Given the description of an element on the screen output the (x, y) to click on. 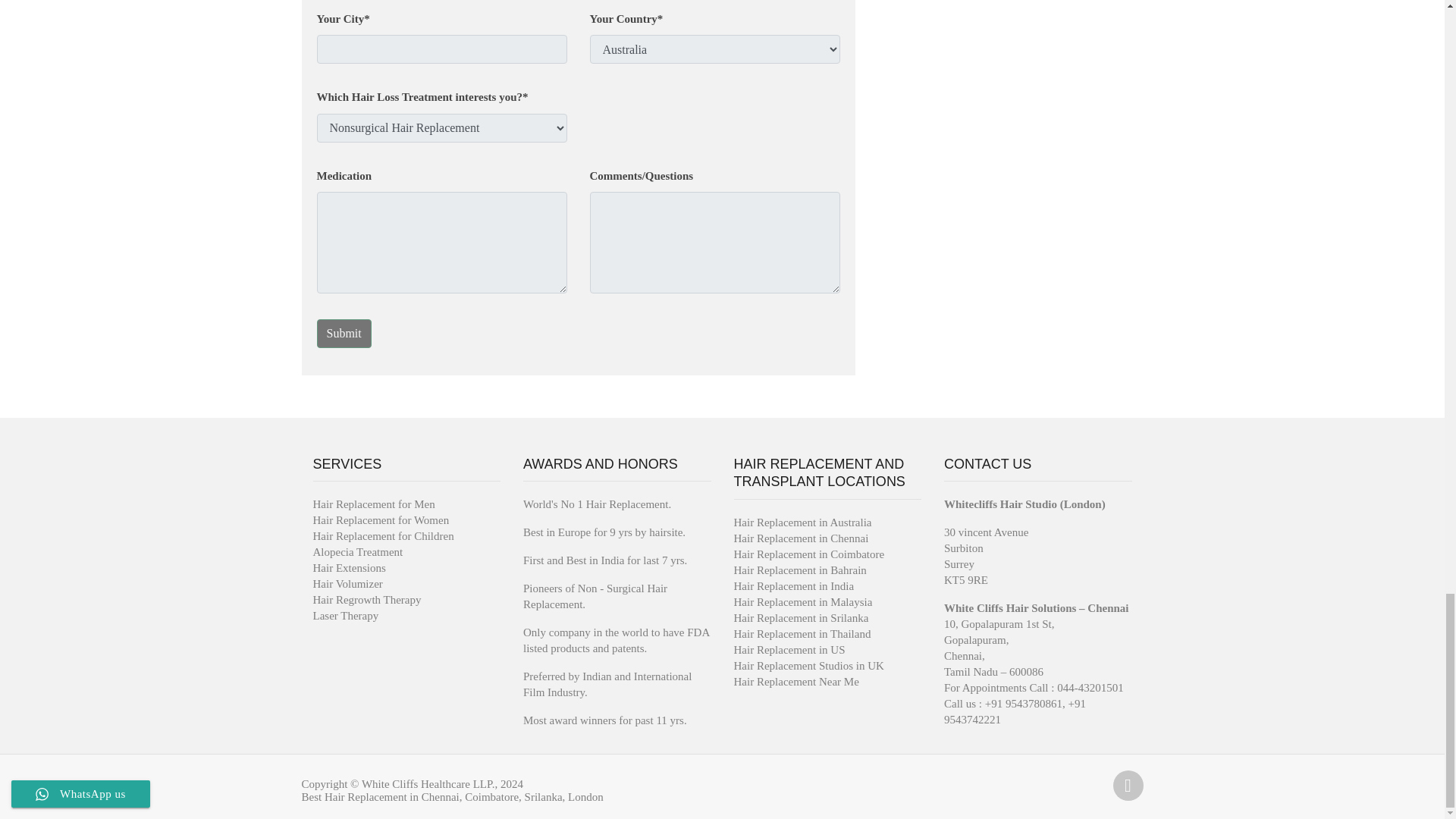
Hair Replacement for Women (380, 520)
Submit (344, 333)
Submit (344, 333)
Hair Replacement for Men (373, 503)
